Given the description of an element on the screen output the (x, y) to click on. 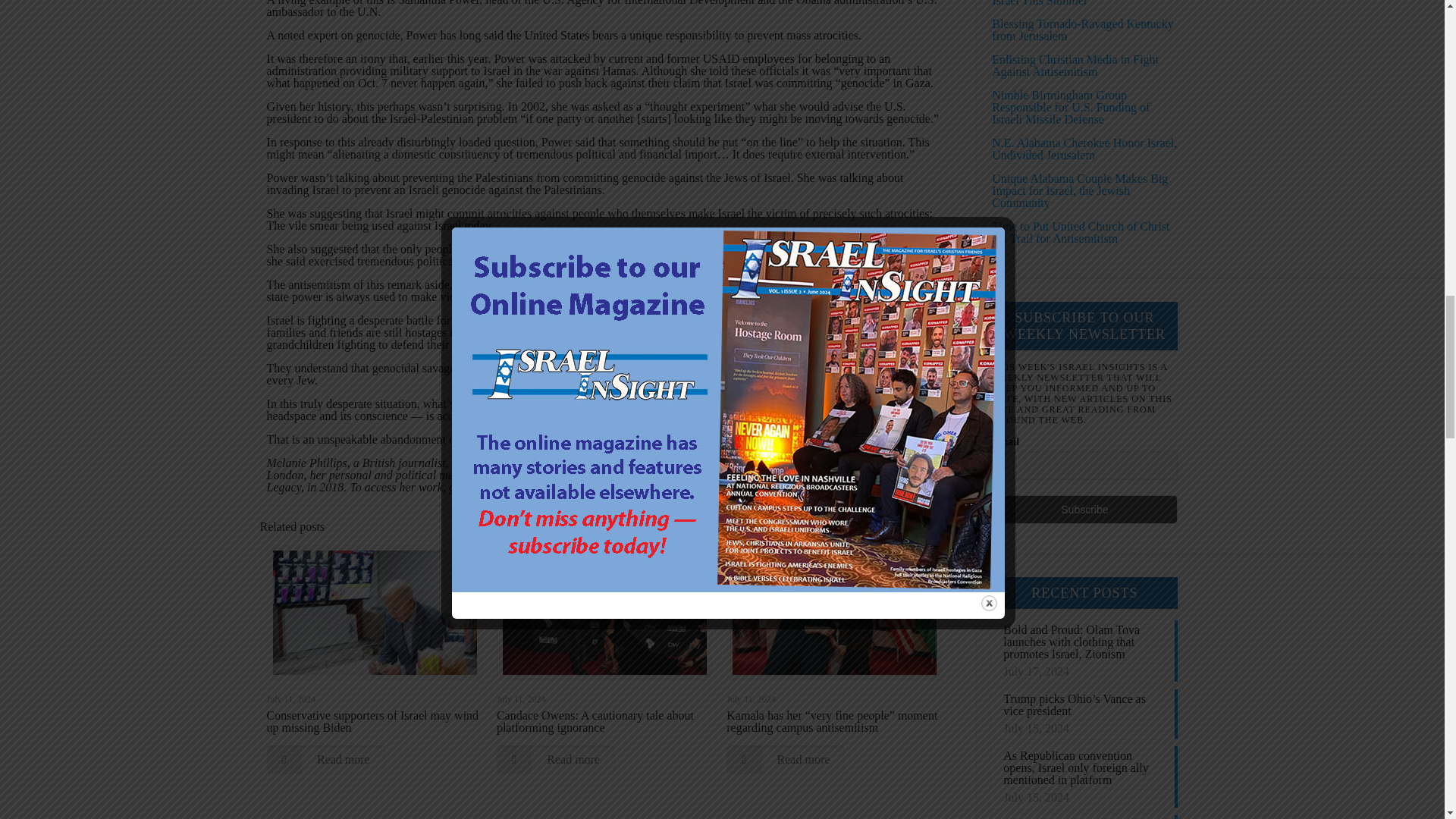
Candace Owens: A cautionary tale about platforming ignorance (595, 721)
Conservative supporters of Israel may wind up missing Biden (372, 721)
Read more (325, 759)
Subscribe (1083, 509)
Read more (555, 759)
Read more (785, 759)
